Given the description of an element on the screen output the (x, y) to click on. 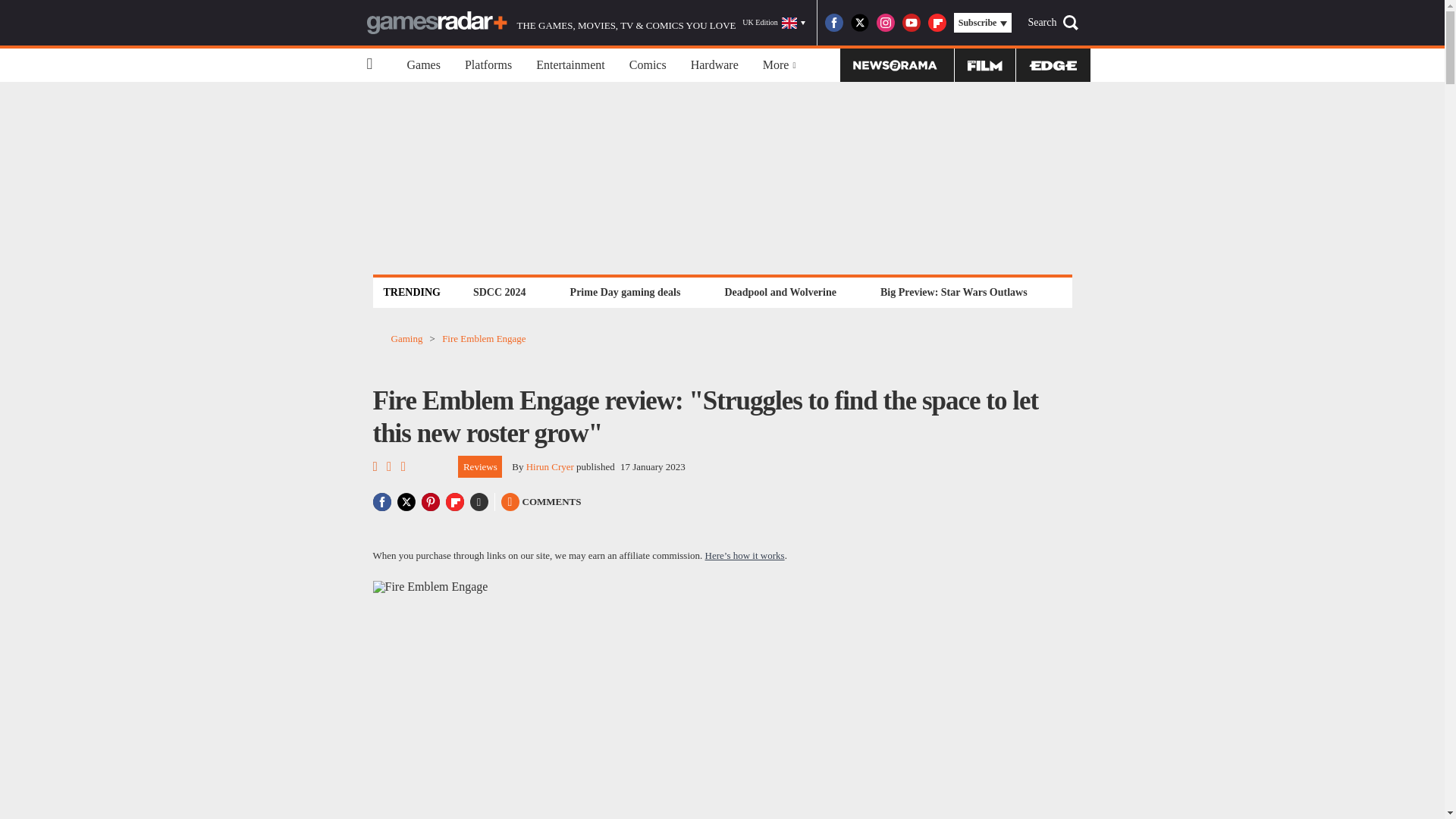
Comics (647, 64)
Big Preview: Star Wars Outlaws (953, 292)
Platforms (488, 64)
Hardware (714, 64)
Prime Day gaming deals (624, 292)
Deadpool and Wolverine (780, 292)
UK Edition (773, 22)
Games (422, 64)
SDCC 2024 (499, 292)
Entertainment (570, 64)
